Given the description of an element on the screen output the (x, y) to click on. 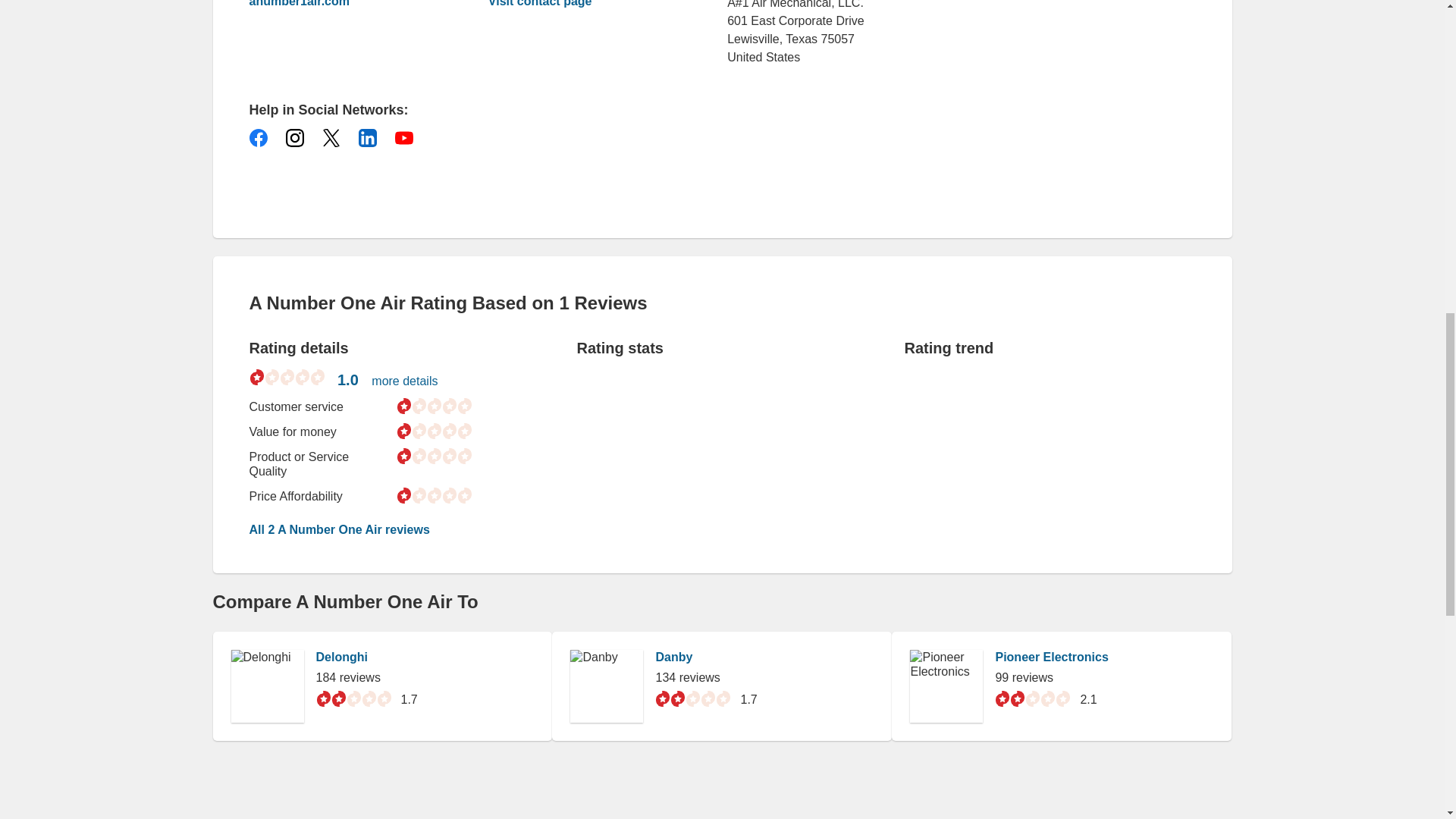
anumber1air.com (345, 4)
A Number One Air (539, 4)
Visit contact page (539, 4)
Facebook (257, 137)
Linkedin link (366, 137)
Twitter (330, 137)
A Number One Air (345, 4)
Danby (674, 656)
Facebook link (257, 137)
Youtube (403, 137)
